Given the description of an element on the screen output the (x, y) to click on. 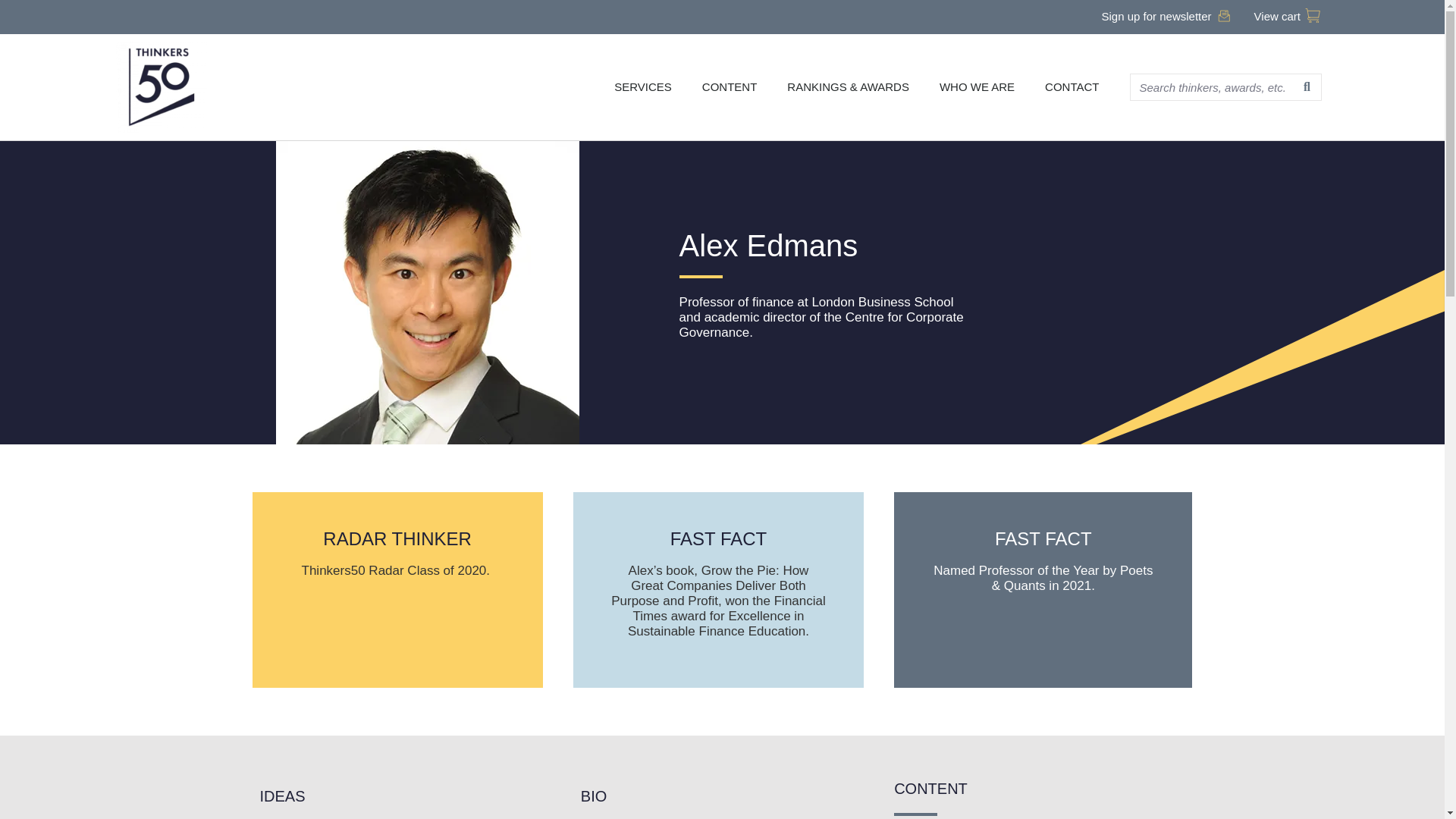
View cart (1286, 17)
CONTENT (730, 87)
SERVICES (642, 87)
CONTACT (1071, 87)
WHO WE ARE (976, 87)
